Given the description of an element on the screen output the (x, y) to click on. 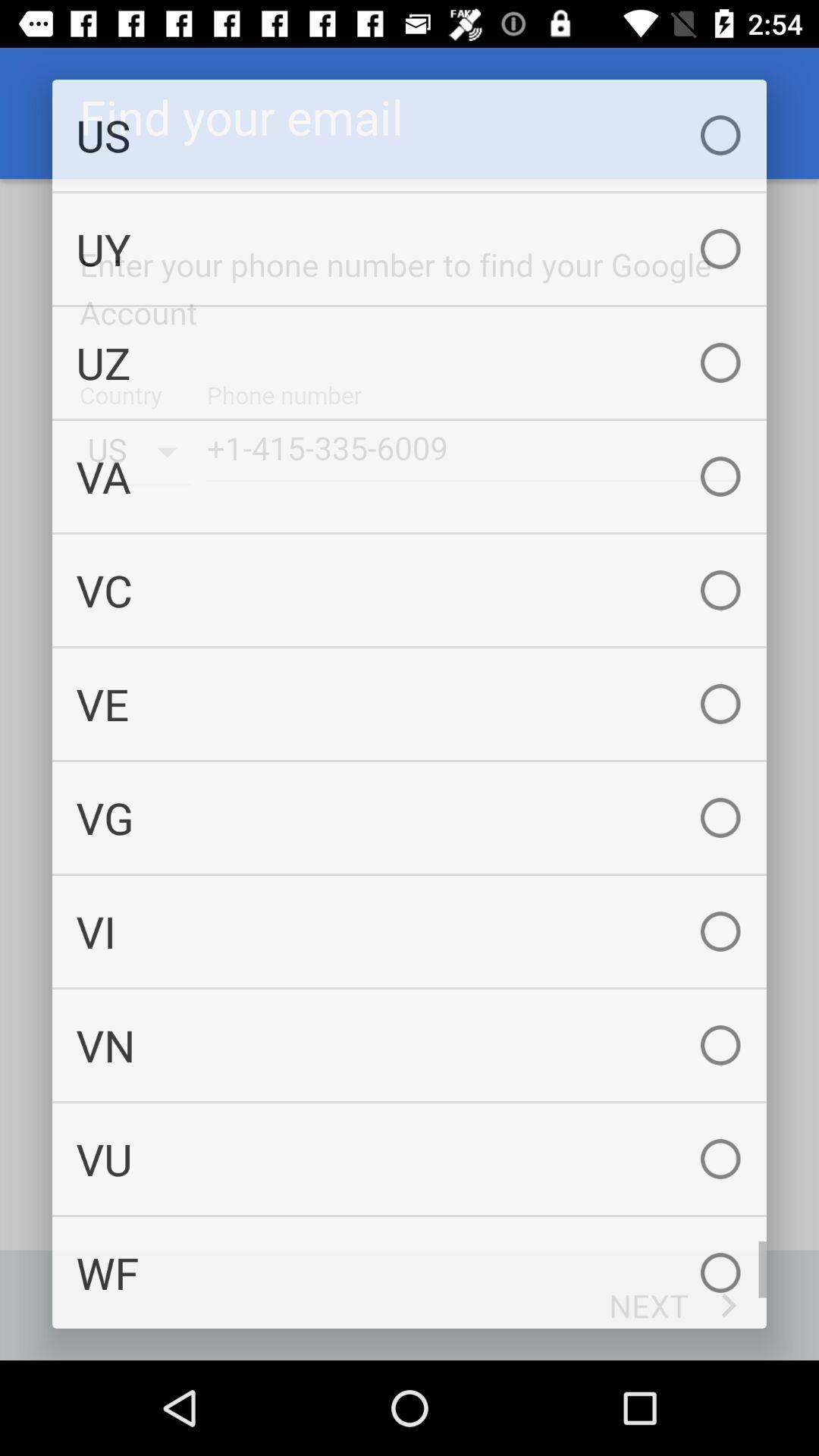
turn off the icon below uy checkbox (409, 362)
